Given the description of an element on the screen output the (x, y) to click on. 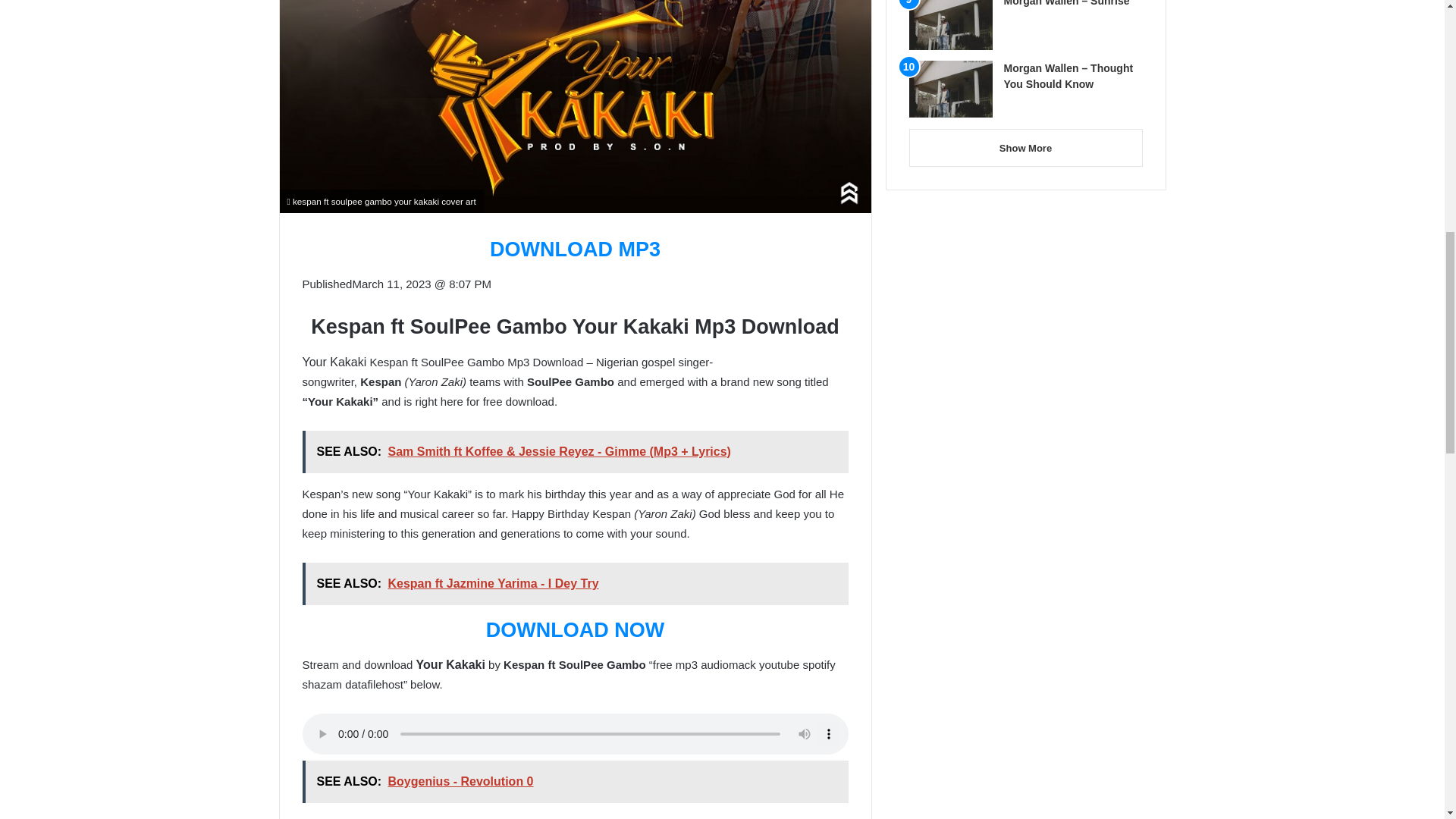
SEE ALSO:  Boygenius - Revolution 0 (574, 781)
DOWNLOAD NOW (574, 630)
SEE ALSO:  Kespan ft Jazmine Yarima - I Dey Try (574, 583)
DOWNLOAD MP3 (575, 249)
mp3 download (341, 818)
